Given the description of an element on the screen output the (x, y) to click on. 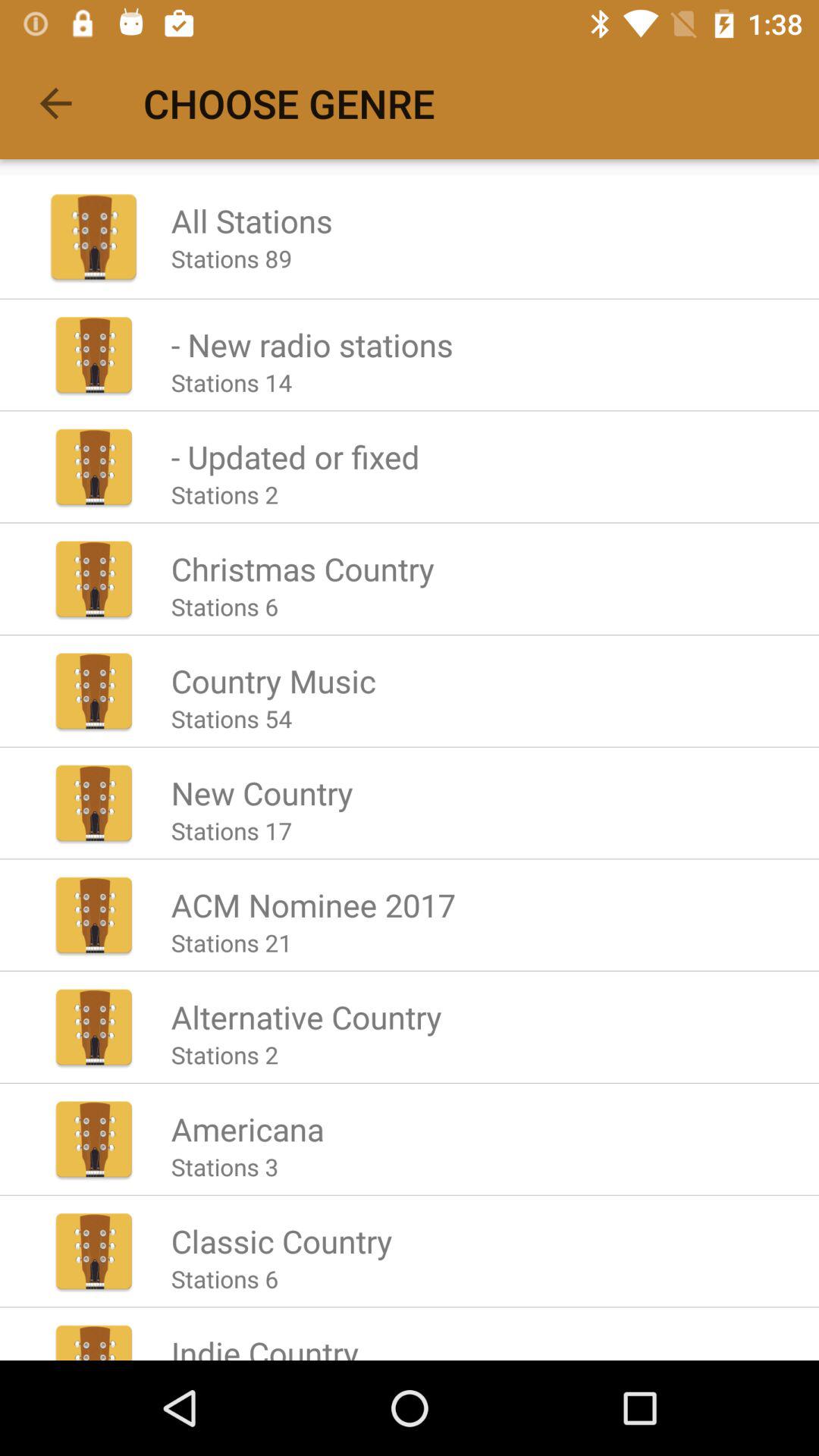
open the americana icon (247, 1128)
